Given the description of an element on the screen output the (x, y) to click on. 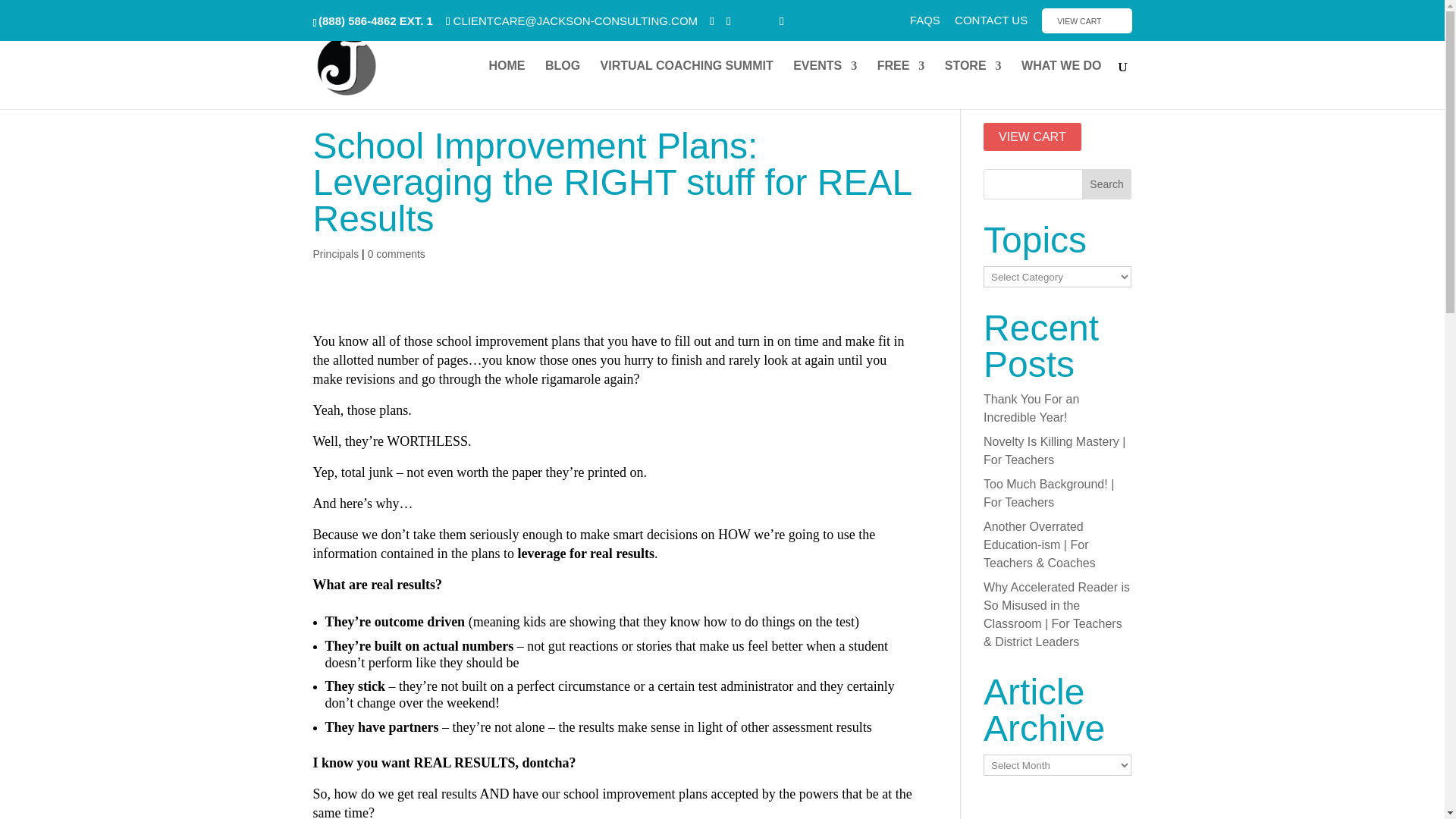
VIRTUAL COACHING SUMMIT (686, 84)
STORE (972, 84)
0 comments (396, 254)
WHAT WE DO (1061, 84)
Principals (335, 254)
VIEW CART (1086, 20)
FREE (900, 84)
CONTACT US (991, 24)
EVENTS (825, 84)
FAQS (925, 24)
Search (1106, 183)
